Given the description of an element on the screen output the (x, y) to click on. 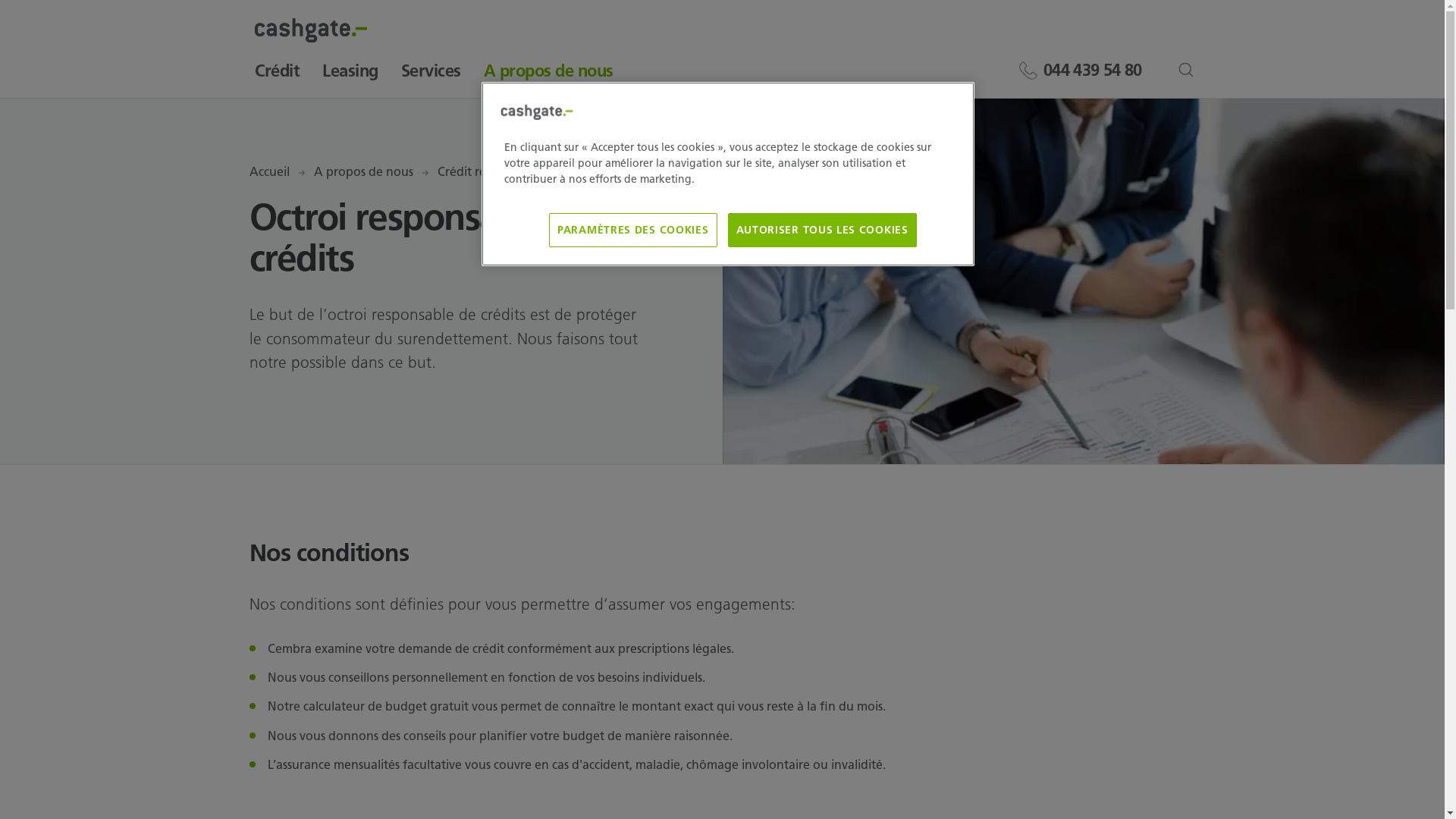
A propos de nous Element type: text (363, 172)
Leasing Element type: text (350, 76)
Accueil Element type: hover (310, 38)
  Element type: text (1204, 70)
Aller au contenu principal Element type: text (0, 0)
A propos de nous Element type: text (548, 76)
AUTORISER TOUS LES COOKIES Element type: text (822, 230)
044 439 54 80 Element type: text (1078, 69)
Services Element type: text (430, 76)
Accueil Element type: text (268, 172)
